Given the description of an element on the screen output the (x, y) to click on. 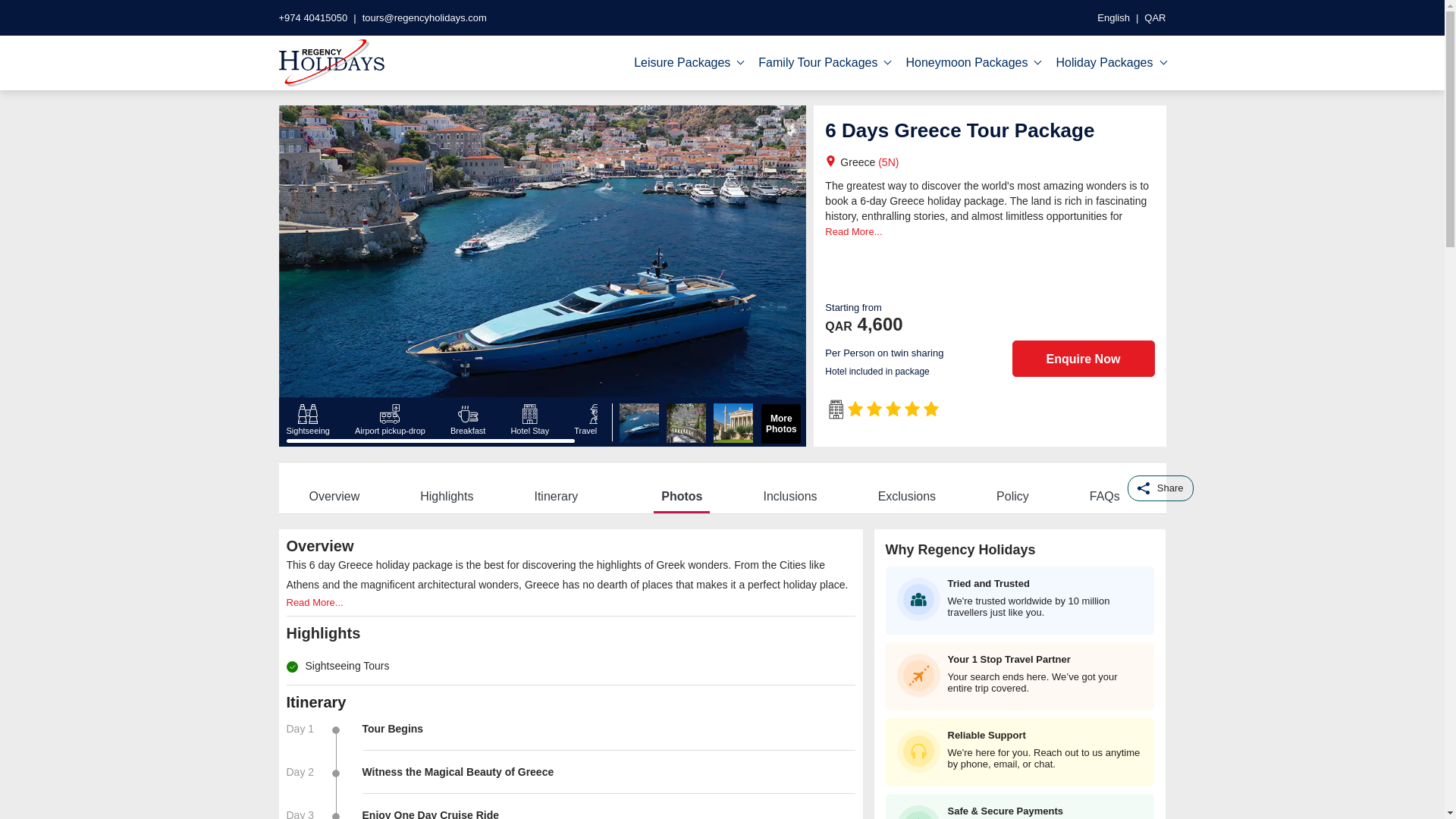
6 days Greece Tour Package (686, 423)
Breakfast (467, 413)
6 Days Greece Tour Package (639, 423)
6 days Tour in Greece (733, 423)
Sightseeing (307, 413)
Airport pickup-drop (390, 418)
Sightseeing (308, 418)
English (1113, 17)
Breakfast (466, 418)
Airport pickup-drop (389, 413)
QAR (1155, 17)
